Given the description of an element on the screen output the (x, y) to click on. 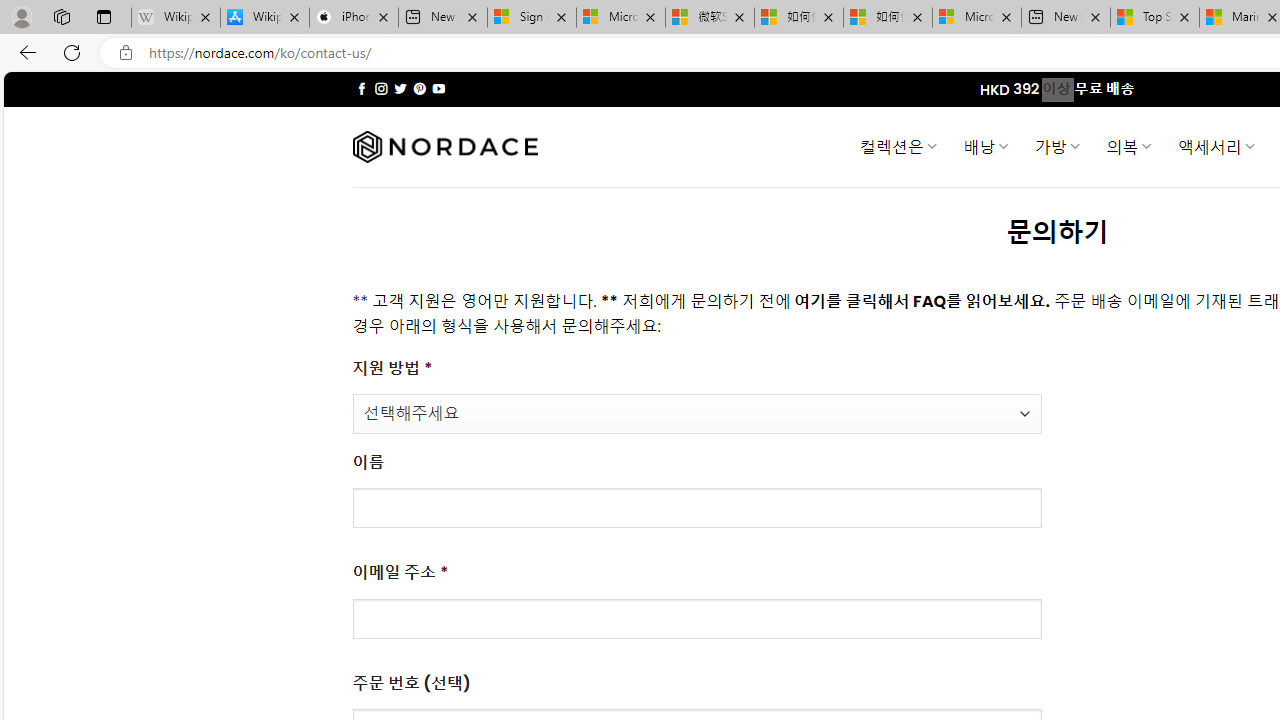
iPhone - Apple (353, 17)
Follow on Facebook (361, 88)
Top Stories - MSN (1155, 17)
Sign in to your Microsoft account (531, 17)
